Given the description of an element on the screen output the (x, y) to click on. 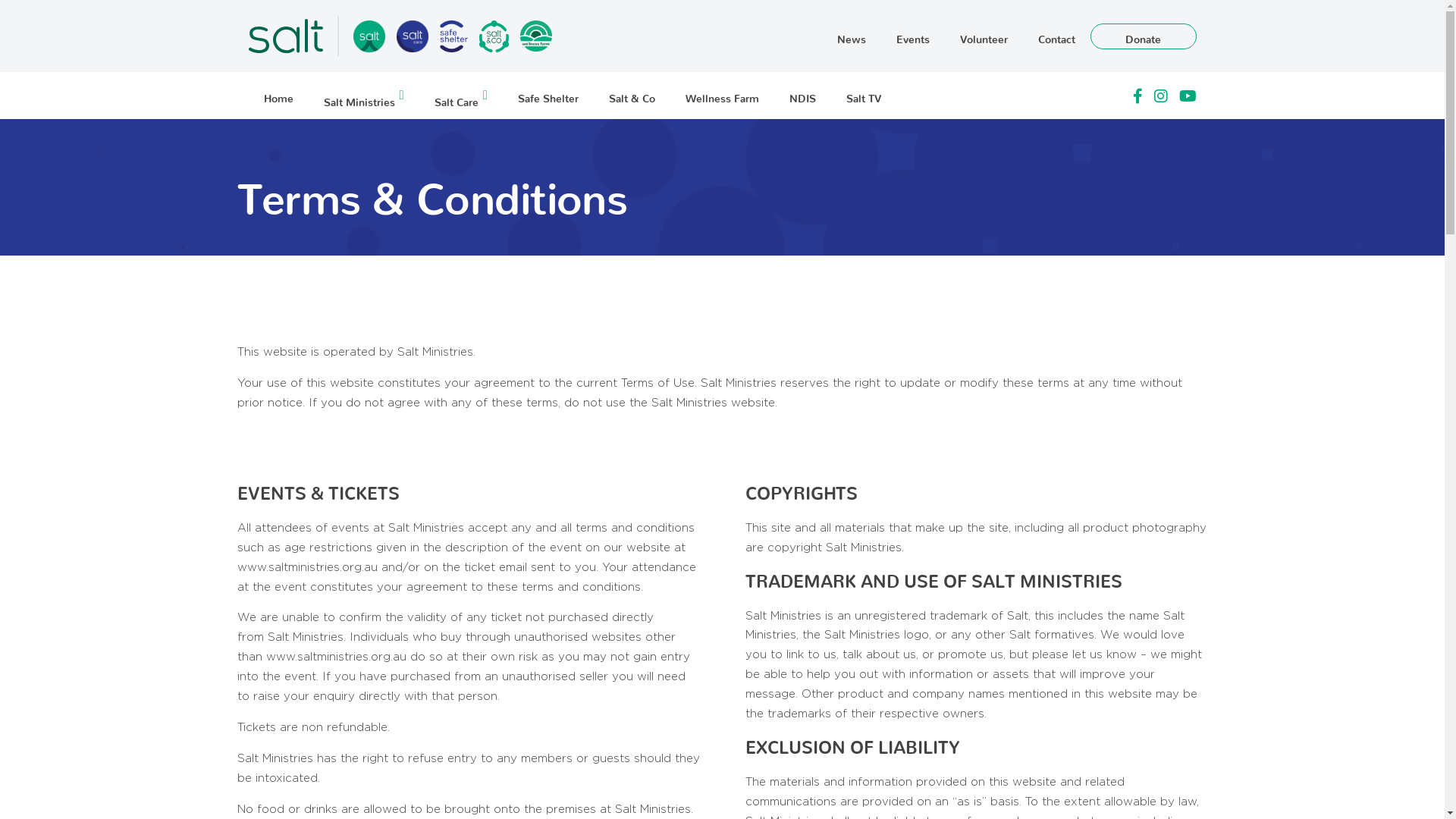
Salt & Co Element type: text (631, 95)
NDIS Element type: text (802, 95)
Home Element type: text (278, 95)
Safe Shelter Element type: text (547, 95)
Events Element type: text (912, 35)
Wellness Farm Element type: text (722, 95)
Salt Care Element type: text (460, 95)
Salt Ministries Element type: text (362, 95)
News Element type: text (851, 35)
Salt TV Element type: text (863, 95)
Contact Element type: text (1055, 35)
Volunteer Element type: text (983, 35)
Donate Element type: text (1142, 36)
